Given the description of an element on the screen output the (x, y) to click on. 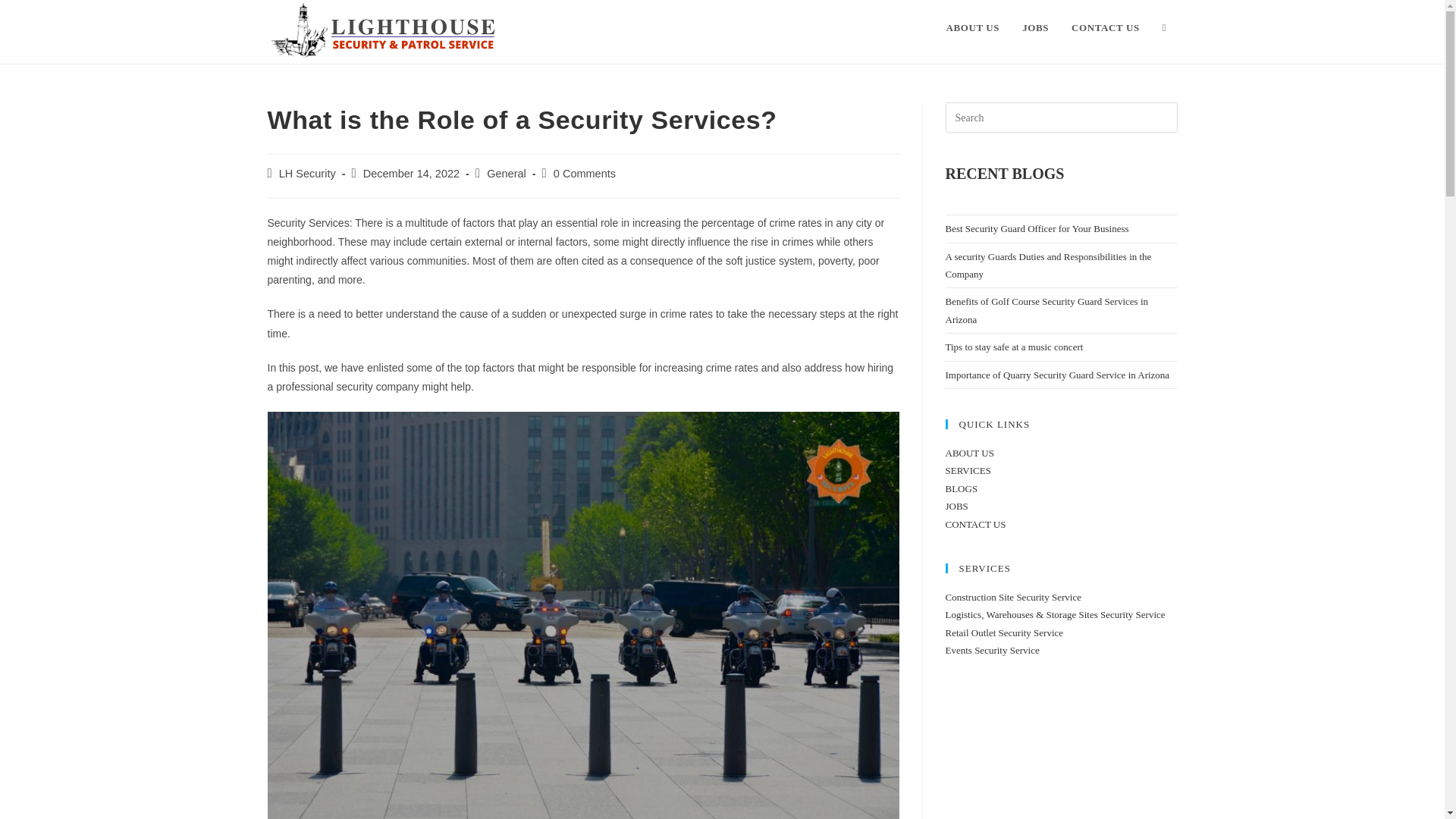
General (505, 173)
ABOUT US (972, 28)
0 Comments (584, 173)
Posts by LH Security (307, 173)
LH Security (307, 173)
CONTACT US (1105, 28)
